Given the description of an element on the screen output the (x, y) to click on. 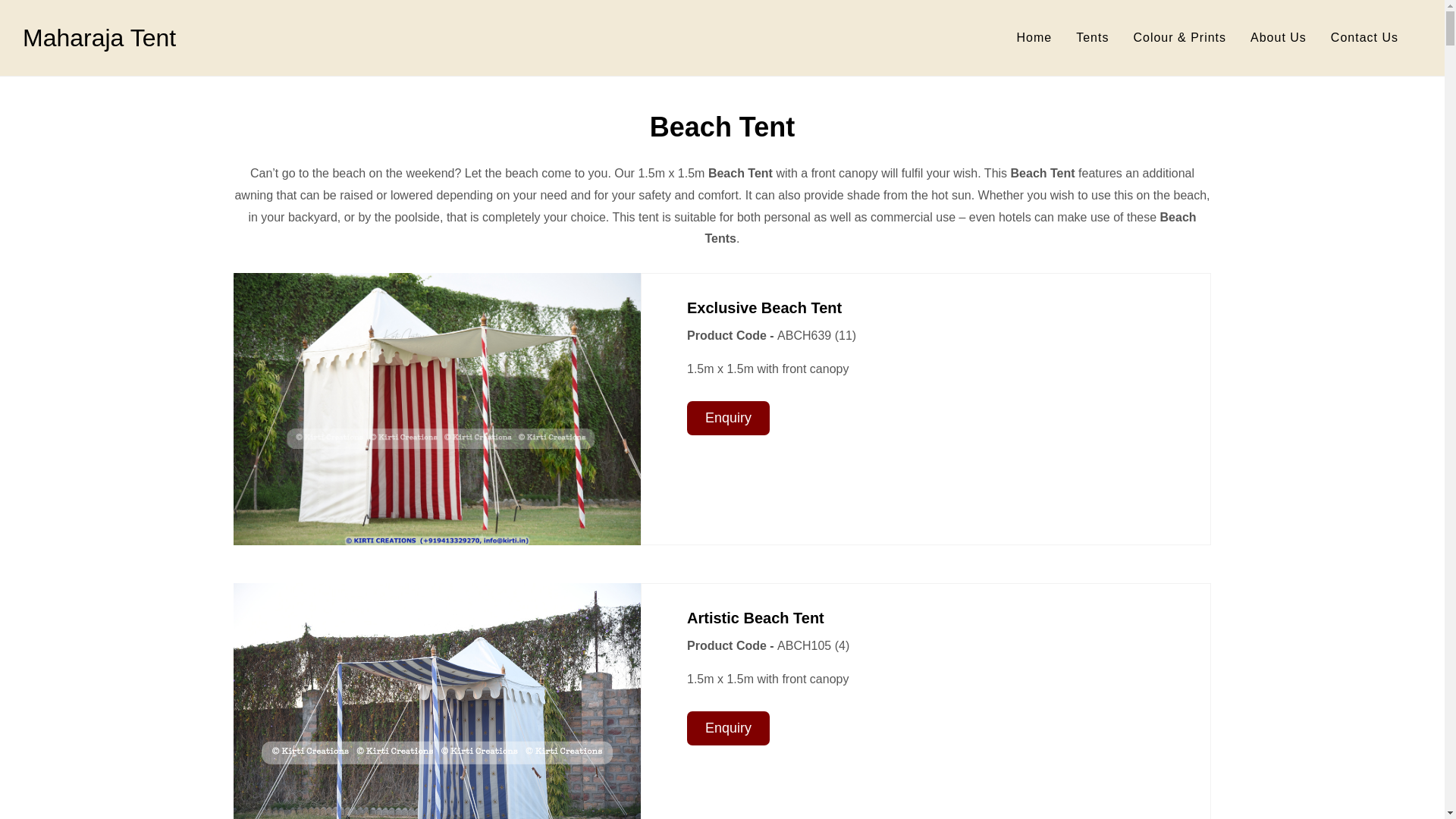
About Us (1278, 38)
Home (1035, 38)
Maharaja Tent (99, 37)
Tents (1091, 38)
